Given the description of an element on the screen output the (x, y) to click on. 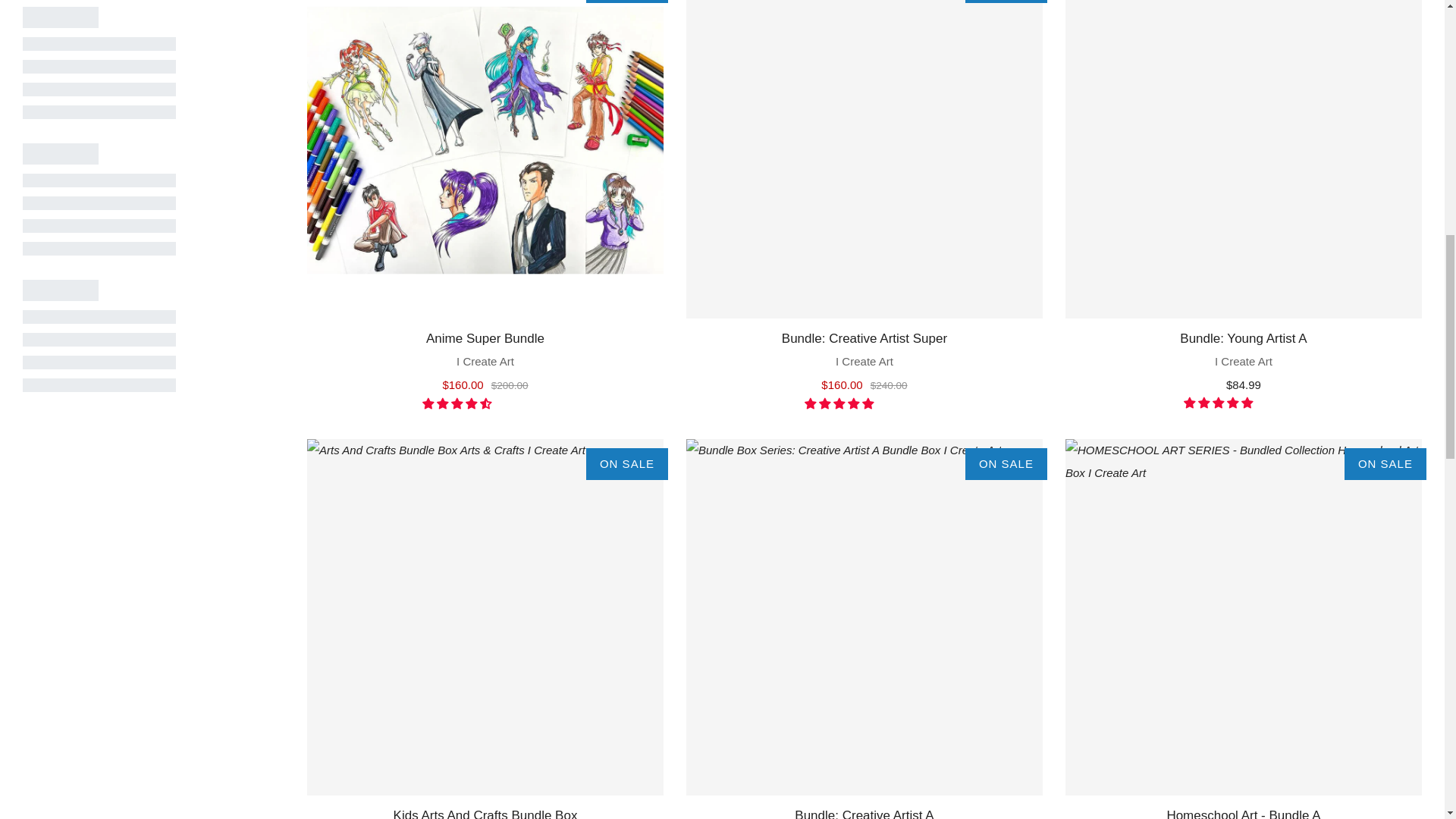
Bundle: Creative Artist Super (863, 359)
Bundle: Creative Artist A (863, 811)
Homeschool Art - Bundle A (1243, 811)
Kids Arts And Crafts Bundle Box (485, 616)
Bundle: Young Artist A (1243, 358)
Bundle: Young Artist A (1243, 159)
Anime Super Bundle (485, 359)
Anime Super Bundle (485, 159)
Bundle: Creative Artist A (863, 616)
Bundle: Creative Artist Super (863, 159)
Kids Arts And Crafts Bundle Box (485, 811)
Homeschool Art - Bundle A (1243, 616)
